Given the description of an element on the screen output the (x, y) to click on. 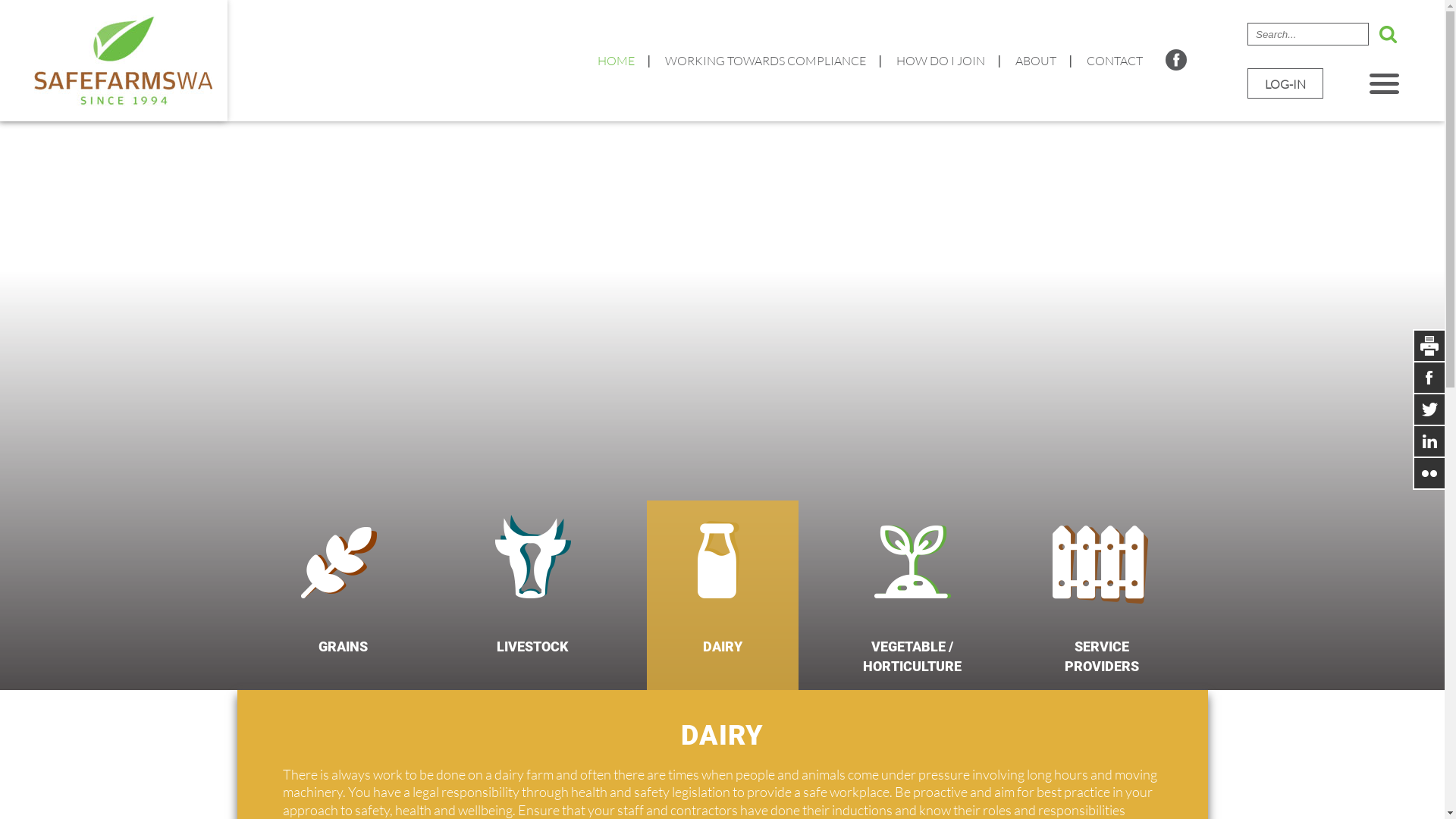
DAIRY Element type: text (721, 572)
VEGETABLE / HORTICULTURE Element type: text (911, 572)
  Element type: text (1429, 344)
GRAINS Element type: text (342, 572)
ABOUT Element type: text (1035, 39)
  Element type: text (1429, 440)
WORKING TOWARDS COMPLIANCE Element type: text (765, 39)
SERVICE PROVIDERS Element type: text (1100, 572)
HOW DO I JOIN Element type: text (940, 39)
LOG-IN Element type: text (1285, 83)
  Element type: text (1387, 33)
Jump to navigation Element type: text (722, 2)
Enter the terms you wish to search for. Element type: hover (1307, 33)
  Element type: text (1429, 376)
  Element type: text (1429, 408)
  Element type: text (3, 7)
  Element type: text (1429, 472)
HOME Element type: text (615, 39)
CONTACT Element type: text (1114, 39)
LIVESTOCK Element type: text (532, 572)
